Given the description of an element on the screen output the (x, y) to click on. 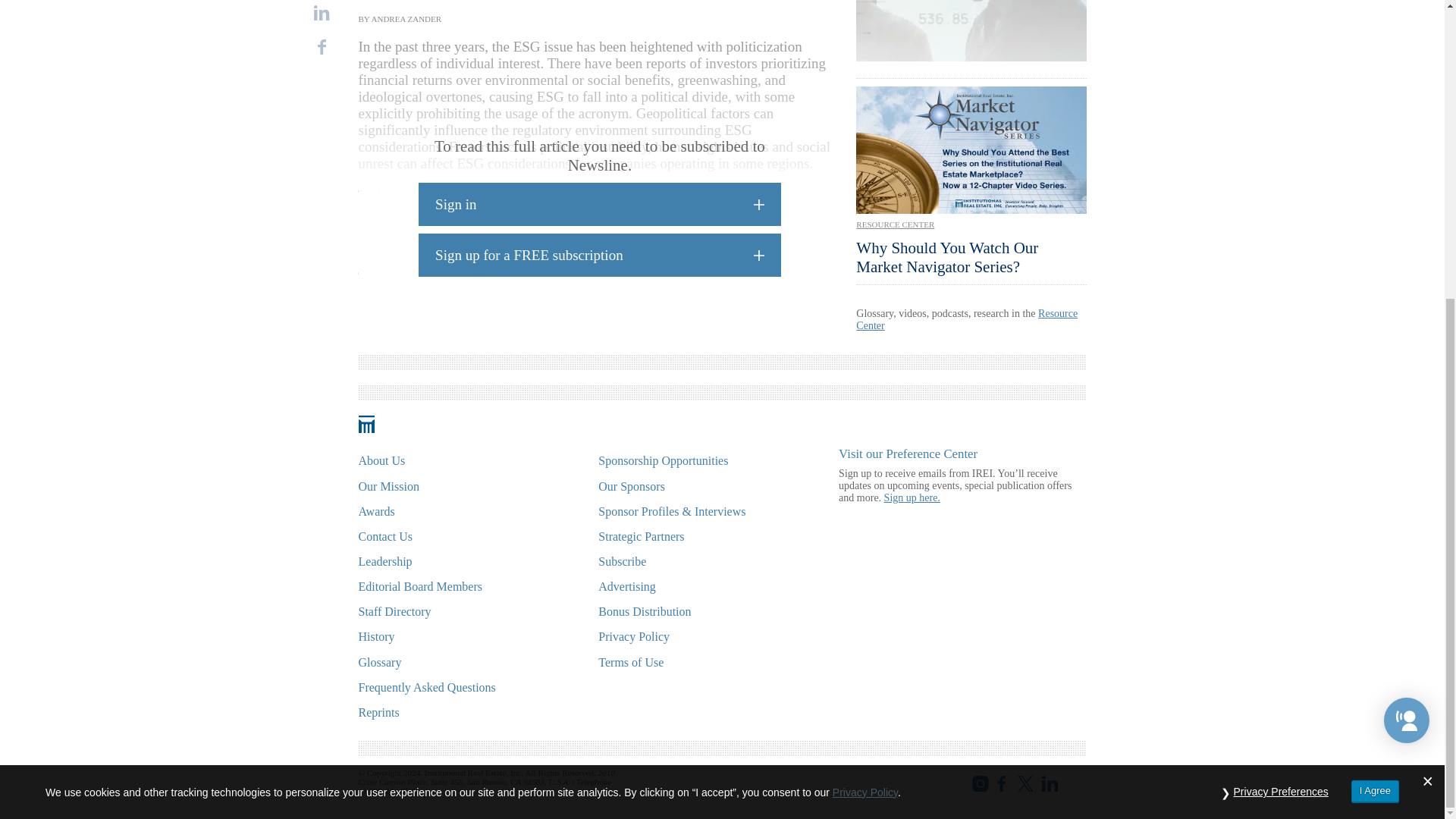
LinkedIn (321, 12)
Privacy Policy (865, 329)
